Given the description of an element on the screen output the (x, y) to click on. 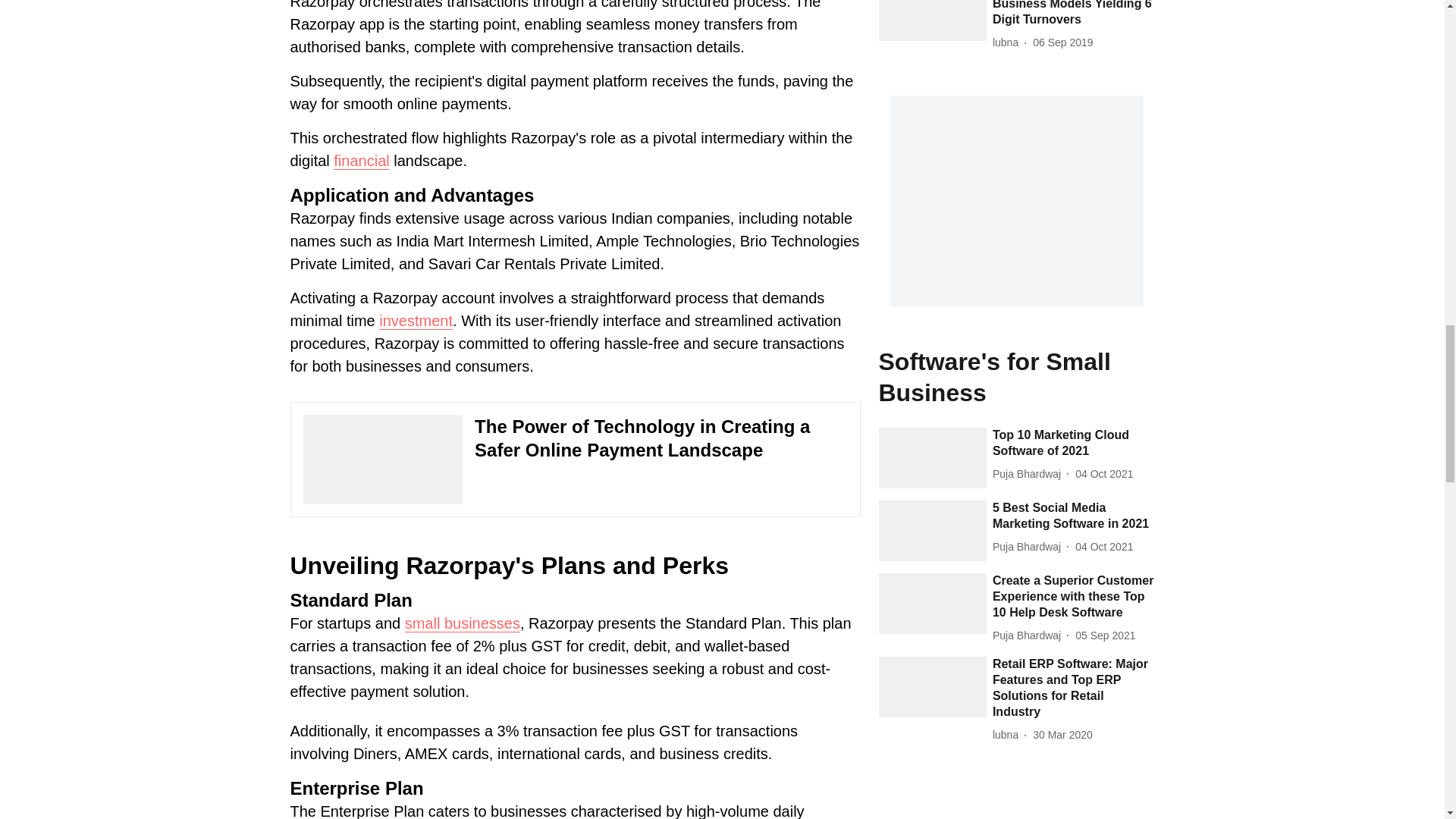
2019-09-06 12:54 (1062, 42)
2021-09-04 20:26 (1105, 635)
2021-10-04 11:58 (1103, 474)
2020-03-30 06:59 (1062, 734)
2021-10-04 10:21 (1103, 546)
